Given the description of an element on the screen output the (x, y) to click on. 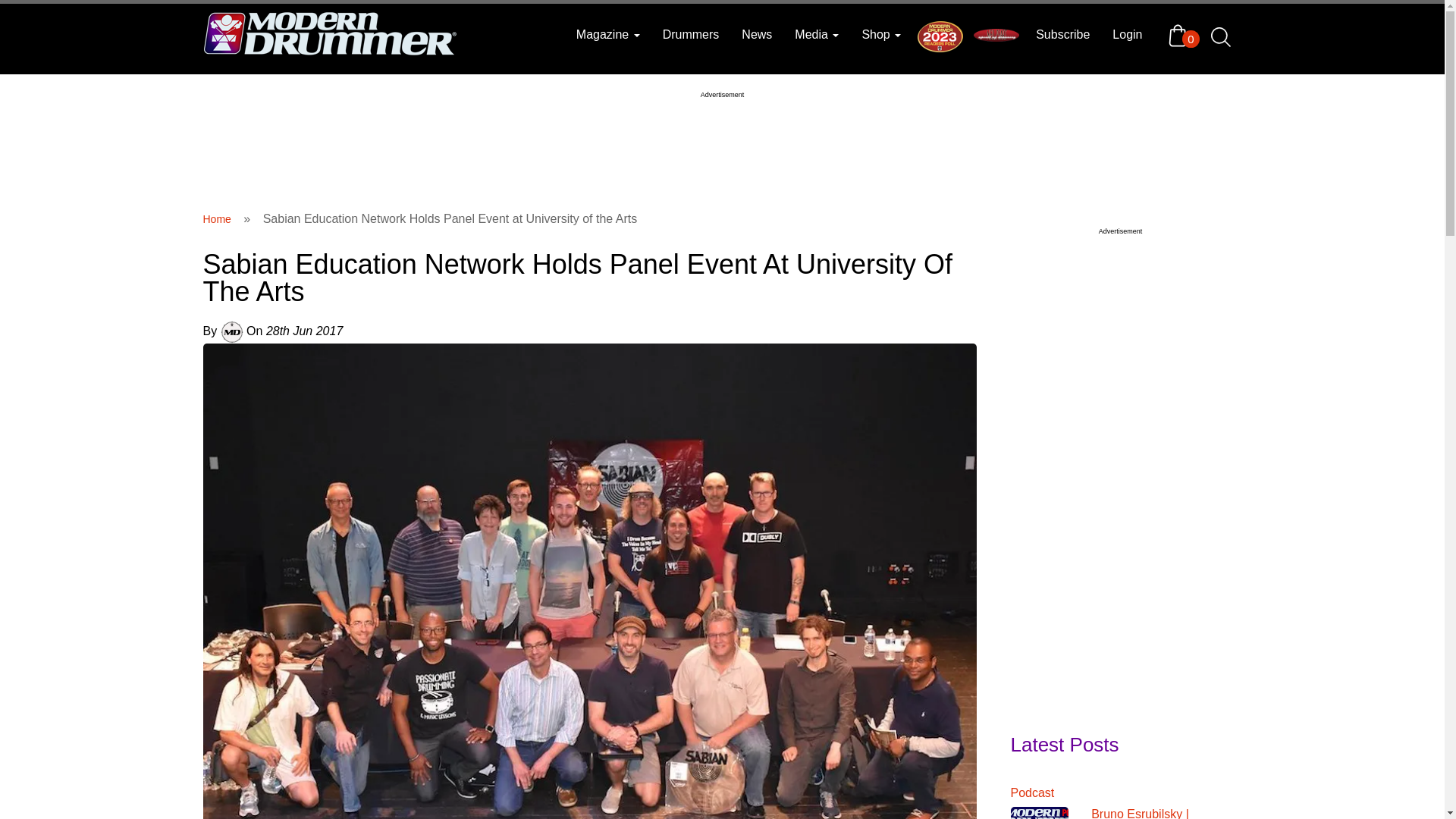
View your Orders (1180, 35)
Magazine (607, 34)
Shop (881, 34)
Drummers (690, 34)
Subscribe (1062, 34)
Media (816, 34)
subscribe (1062, 34)
0 (1180, 35)
